Given the description of an element on the screen output the (x, y) to click on. 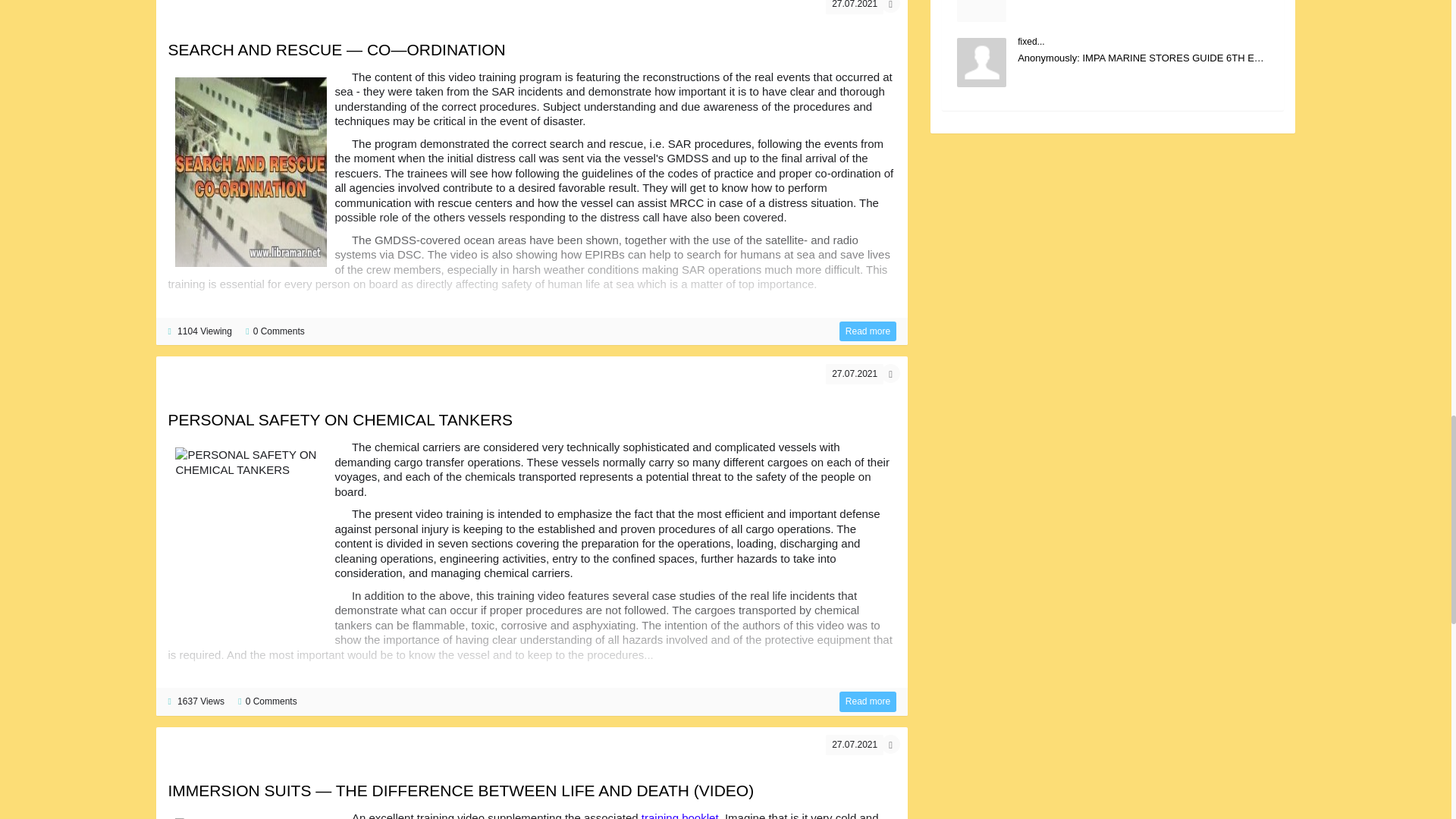
PERSONAL SAFETY ON CHEMICAL TANKERS (868, 701)
PERSONAL SAFETY ON CHEMICAL TANKERS (339, 419)
